Given the description of an element on the screen output the (x, y) to click on. 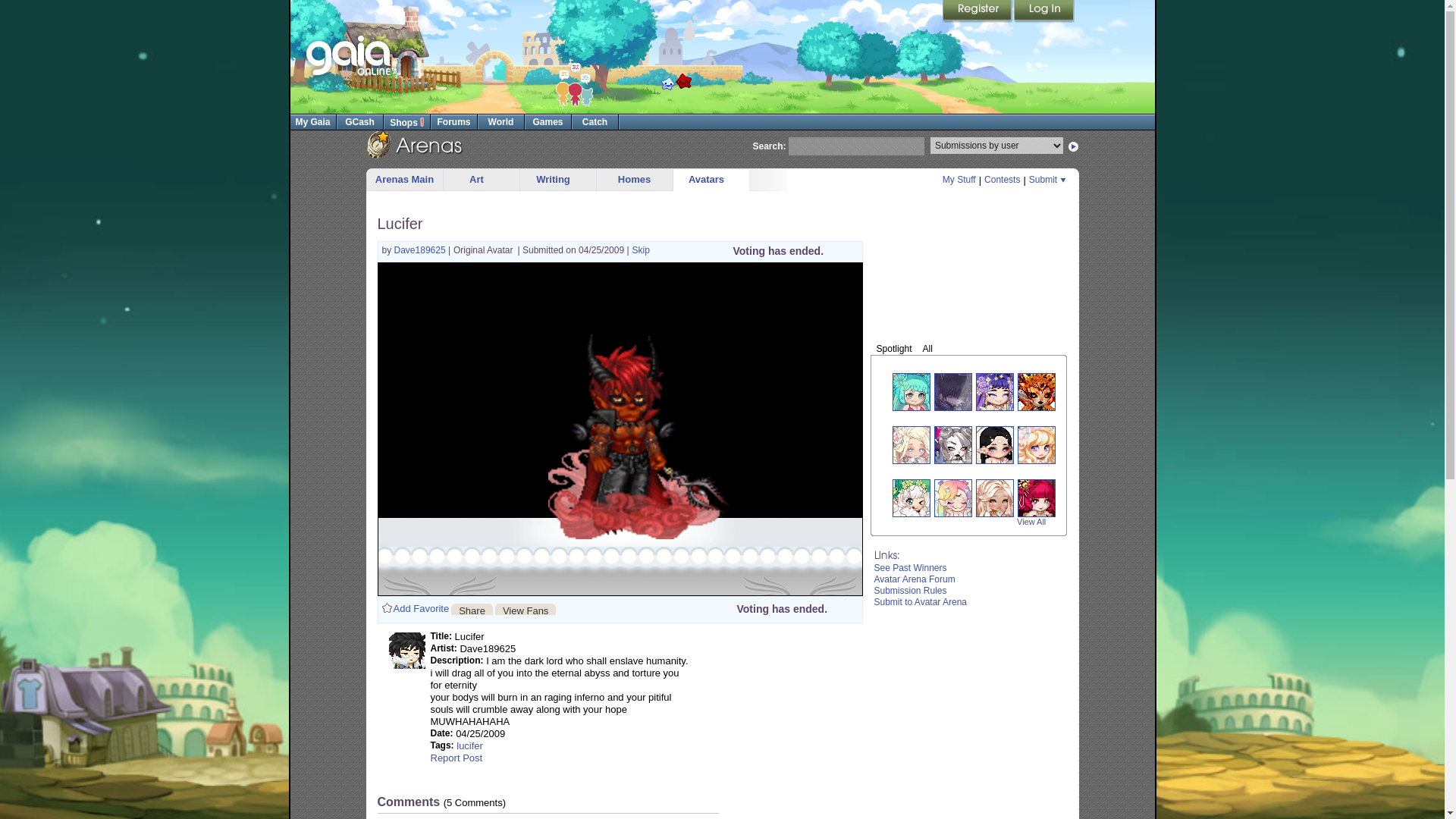
View Dave189625's profile (421, 249)
Return to the Gaia Homepage (350, 56)
Register (977, 11)
Login (1043, 11)
Create a free account now (977, 11)
submit (1074, 146)
Shops ! (406, 121)
GCash (358, 121)
Pairfection (674, 78)
submit (1074, 146)
